Given the description of an element on the screen output the (x, y) to click on. 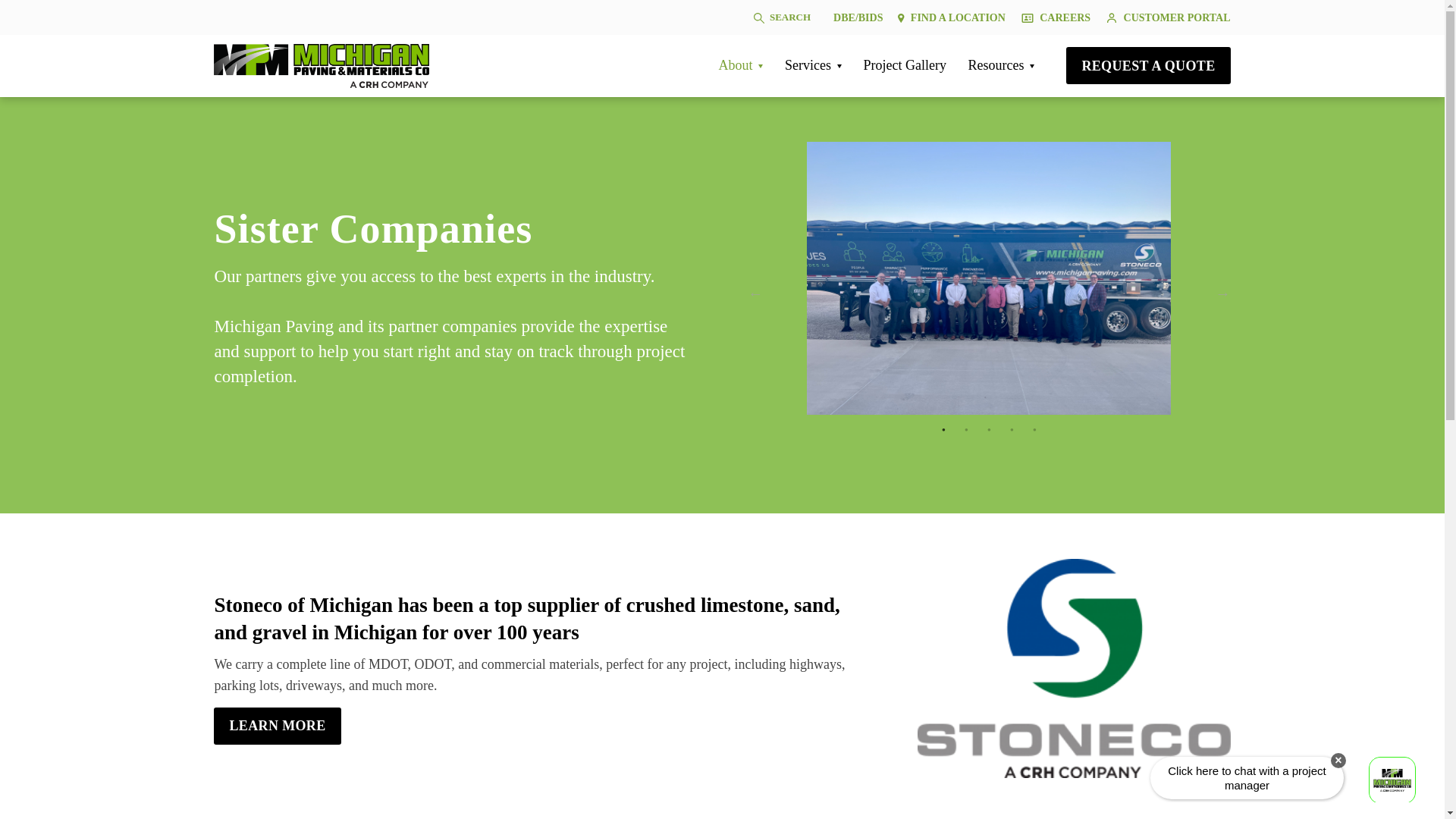
Resources (1000, 65)
REQUEST A QUOTE (1147, 65)
Photo Sep 14 2023, 7 27 00 PM (988, 277)
Services (813, 65)
CAREERS (1055, 17)
CUSTOMER PORTAL (1164, 17)
Project Gallery (904, 65)
SEARCH (781, 16)
About (740, 65)
FIND A LOCATION (951, 17)
